Given the description of an element on the screen output the (x, y) to click on. 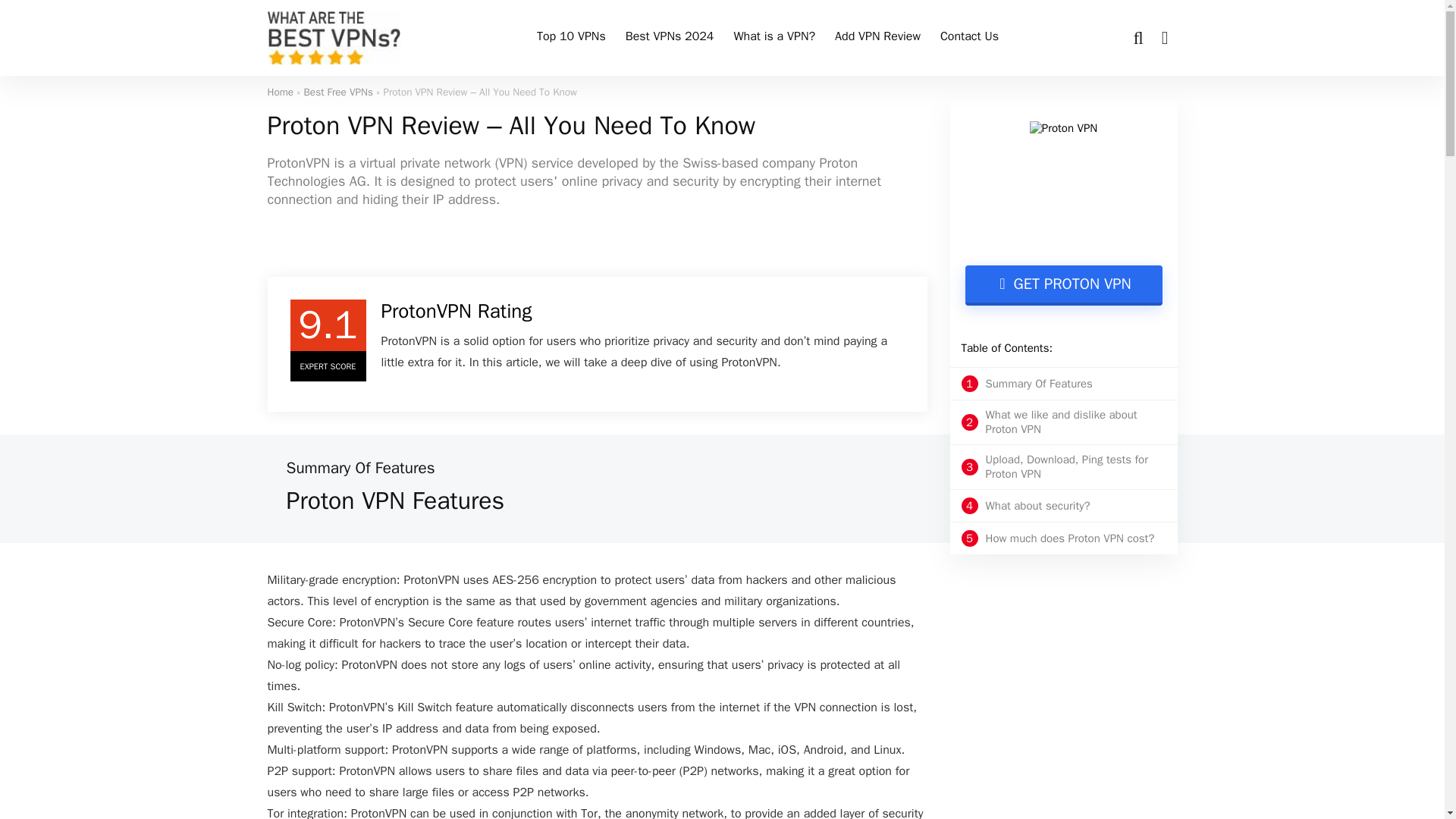
GET PROTON VPN (1059, 538)
What is a VPN? (1062, 285)
Best VPNs 2024 (774, 37)
Top 10 VPNs (1059, 466)
Add VPN Review (669, 37)
Best Free VPNs (571, 37)
Contact Us (877, 37)
Home (338, 91)
